Given the description of an element on the screen output the (x, y) to click on. 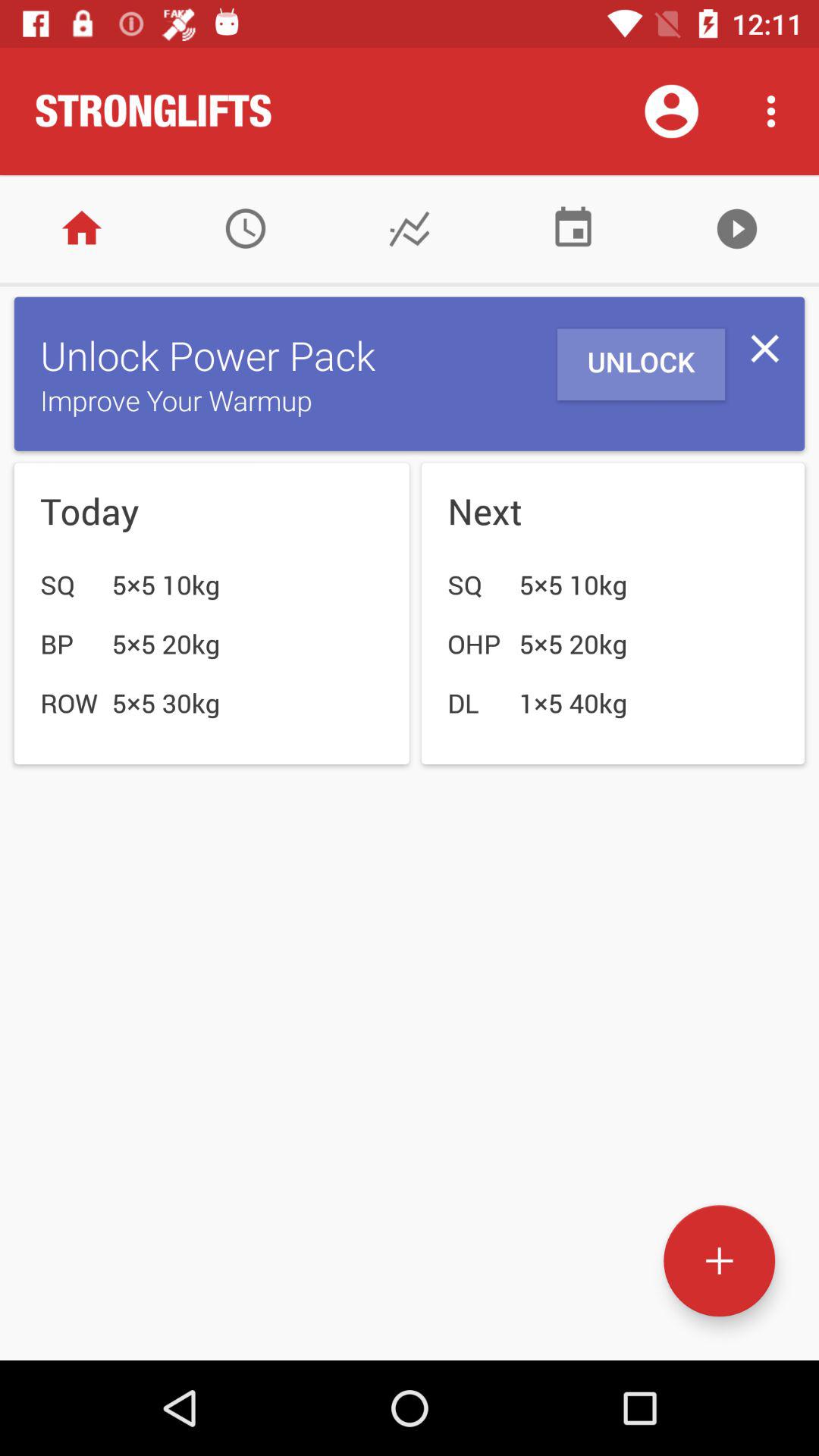
view graphs (409, 228)
